Given the description of an element on the screen output the (x, y) to click on. 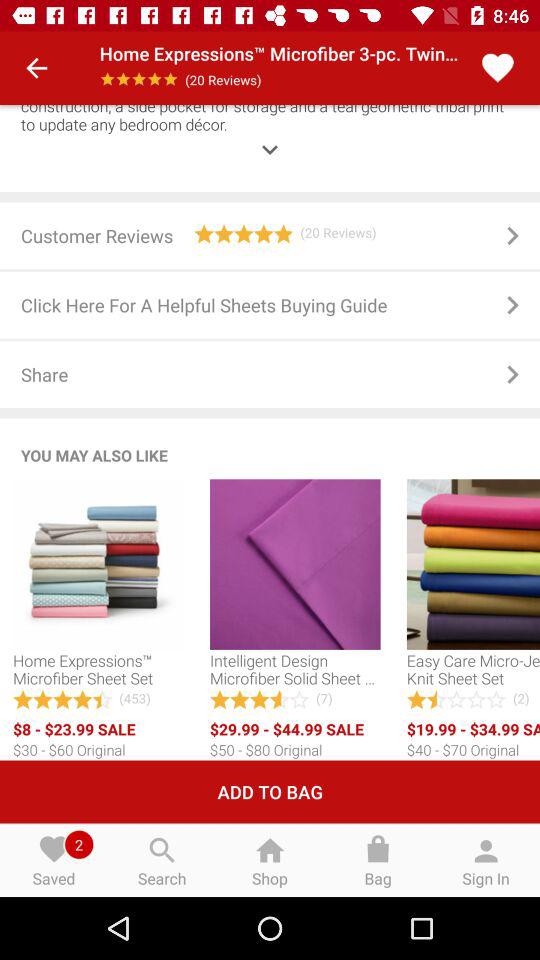
click fall asleep in item (270, 135)
